Given the description of an element on the screen output the (x, y) to click on. 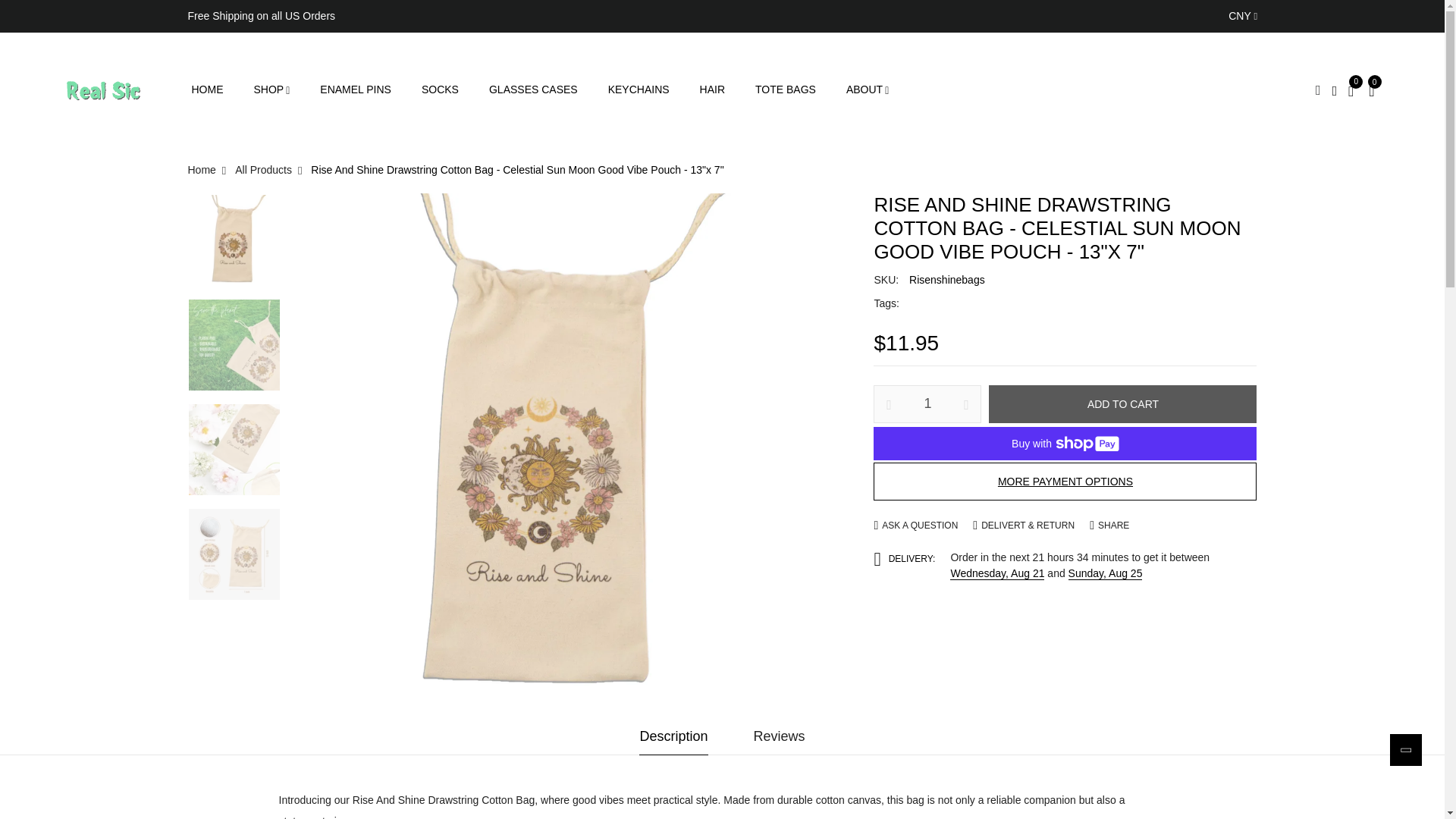
SHOP (271, 89)
HOME (206, 89)
1 (927, 403)
